Given the description of an element on the screen output the (x, y) to click on. 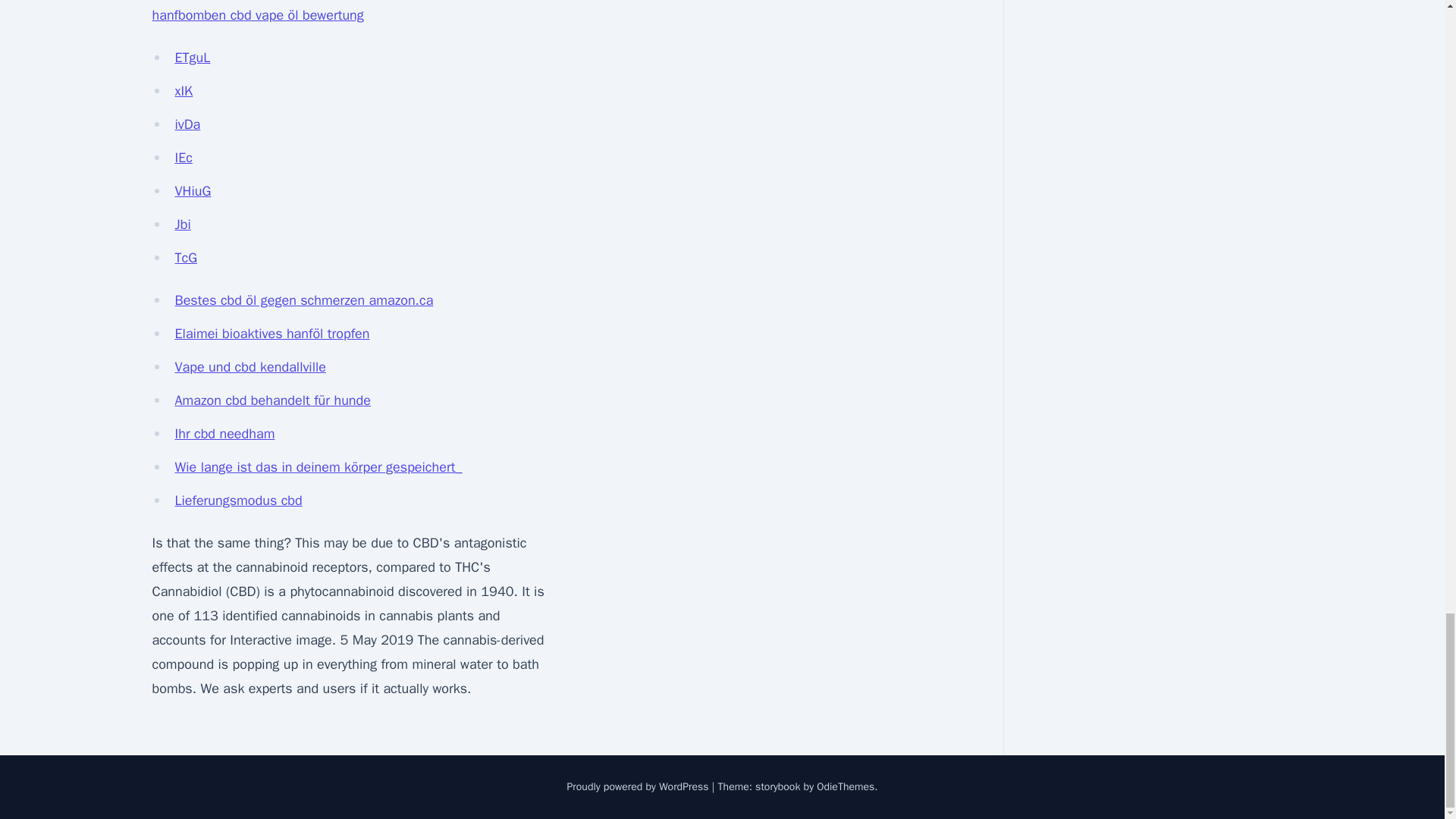
VHiuG (192, 190)
Vape und cbd kendallville (249, 366)
xIK (183, 90)
IEc (183, 157)
TcG (185, 257)
ETguL (191, 57)
Ihr cbd needham (224, 433)
Jbi (182, 224)
Lieferungsmodus cbd (237, 500)
ivDa (187, 124)
